Given the description of an element on the screen output the (x, y) to click on. 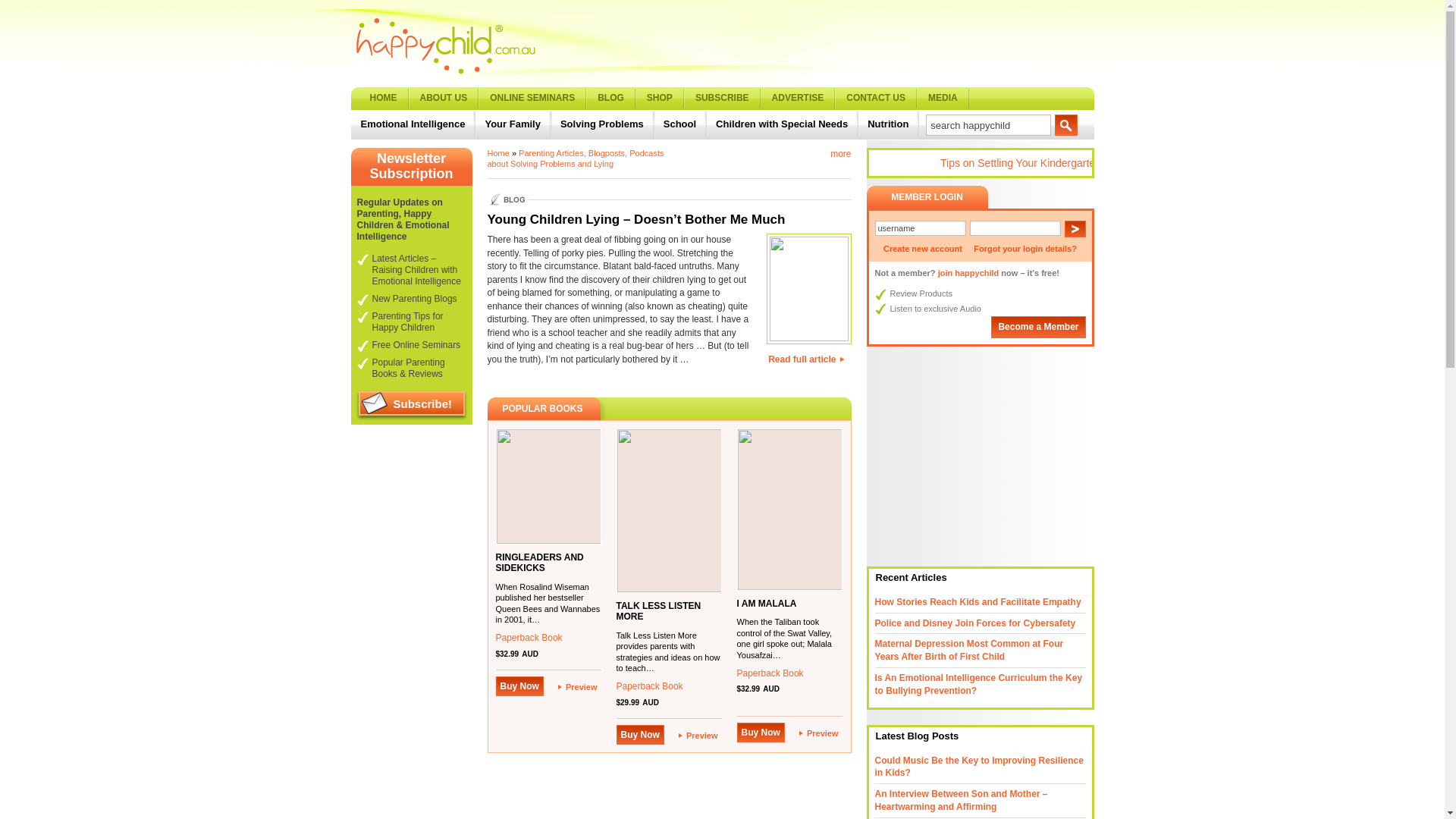
Home Element type: text (497, 152)
CONTACT US Element type: text (875, 98)
I AM MALALA Element type: text (767, 603)
ABOUT US Element type: text (444, 98)
Subscribe! Element type: text (410, 405)
Read full article Element type: text (805, 360)
Buy Now Element type: text (639, 734)
Could Music Be the Key to Improving Resilience in Kids? Element type: text (979, 766)
TALK LESS LISTEN MORE Element type: text (657, 610)
join happychild Element type: text (968, 272)
Paperback Book Element type: text (648, 685)
Buy Now Element type: text (519, 686)
SUBSCRIBE Element type: text (722, 98)
Search Element type: text (1065, 124)
Preview Element type: text (577, 686)
HOME Element type: text (383, 98)
Forgot your login details? Element type: text (1024, 248)
RINGLEADERS AND SIDEKICKS Element type: text (539, 562)
Recent Articles Element type: text (908, 577)
School Element type: text (681, 124)
Emotional Intelligence Element type: text (413, 124)
Paperback Book Element type: text (770, 673)
Preview Element type: text (698, 735)
Preview Element type: text (818, 733)
BLOG Element type: text (610, 98)
ONLINE SEMINARS Element type: text (532, 98)
Nutrition Element type: text (889, 124)
Paperback Book Element type: text (528, 637)
more Element type: text (840, 153)
Children with Special Needs Element type: text (783, 124)
Become a Member Element type: text (1038, 327)
How Stories Reach Kids and Facilitate Empathy Element type: text (978, 601)
Your Family Element type: text (513, 124)
SHOP Element type: text (660, 98)
Create new account Element type: text (922, 248)
Solving Problems Element type: text (603, 124)
Police and Disney Join Forces for Cybersafety Element type: text (975, 623)
Latest Blog Posts Element type: text (914, 735)
Buy Now Element type: text (760, 732)
MEDIA Element type: text (943, 98)
Log in Element type: text (1074, 228)
ADVERTISE Element type: text (798, 98)
